Given the description of an element on the screen output the (x, y) to click on. 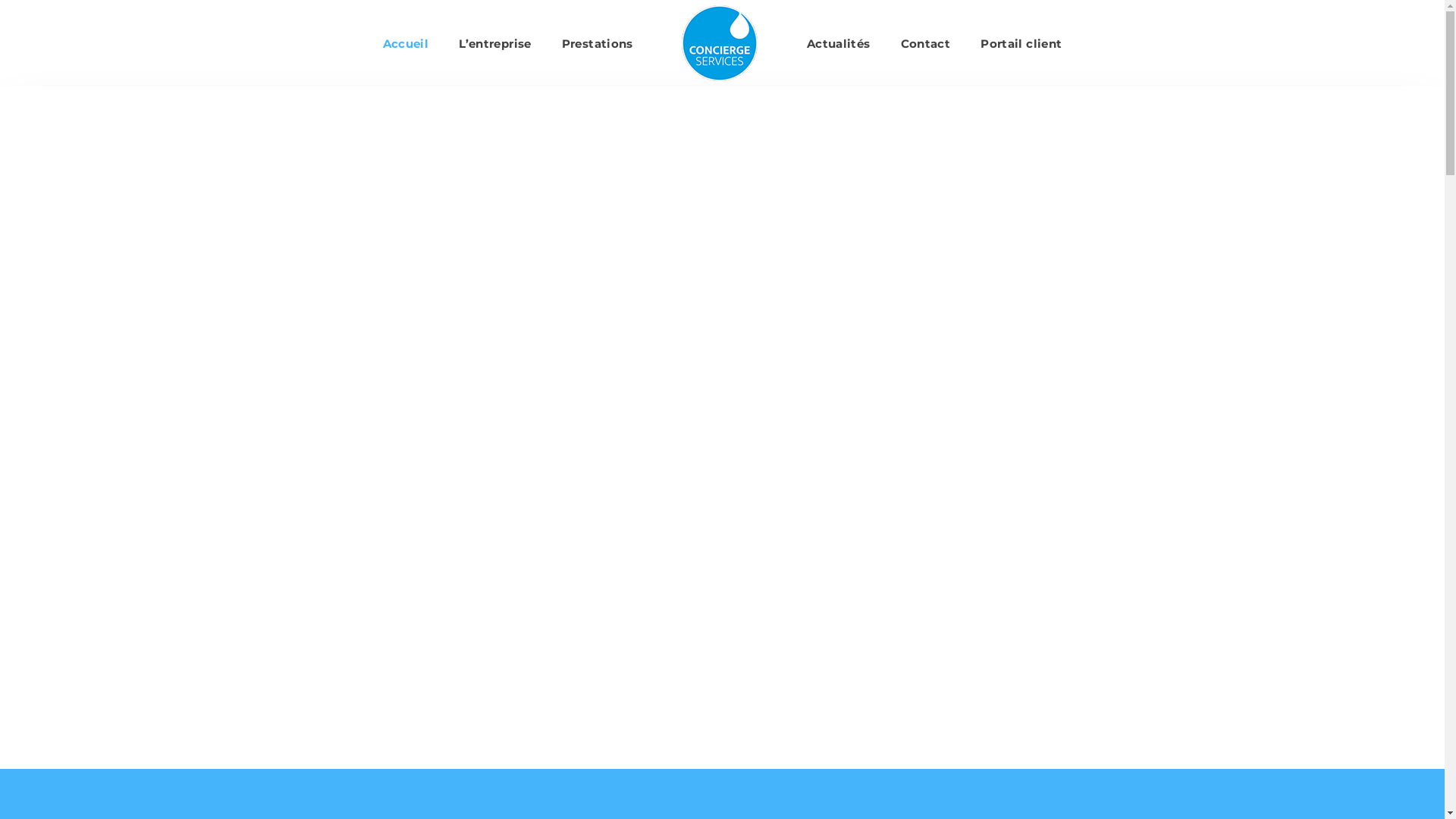
Portail client Element type: text (1020, 42)
Nettoyage Element type: text (759, 599)
logo-label Element type: hover (1013, 626)
Immeuble Services Element type: text (782, 678)
info@conciergeservices.ch Element type: text (346, 633)
+41 (0) 840 000 500 Element type: text (328, 598)
Rue du Commerce 89,
2300 La Chaux-de-Fonds Element type: text (339, 673)
Facility Services Element type: text (773, 625)
Accueil Element type: text (405, 42)
Prestations Element type: text (597, 42)
Menage Services Element type: text (776, 704)
Contact Element type: text (925, 42)
